Given the description of an element on the screen output the (x, y) to click on. 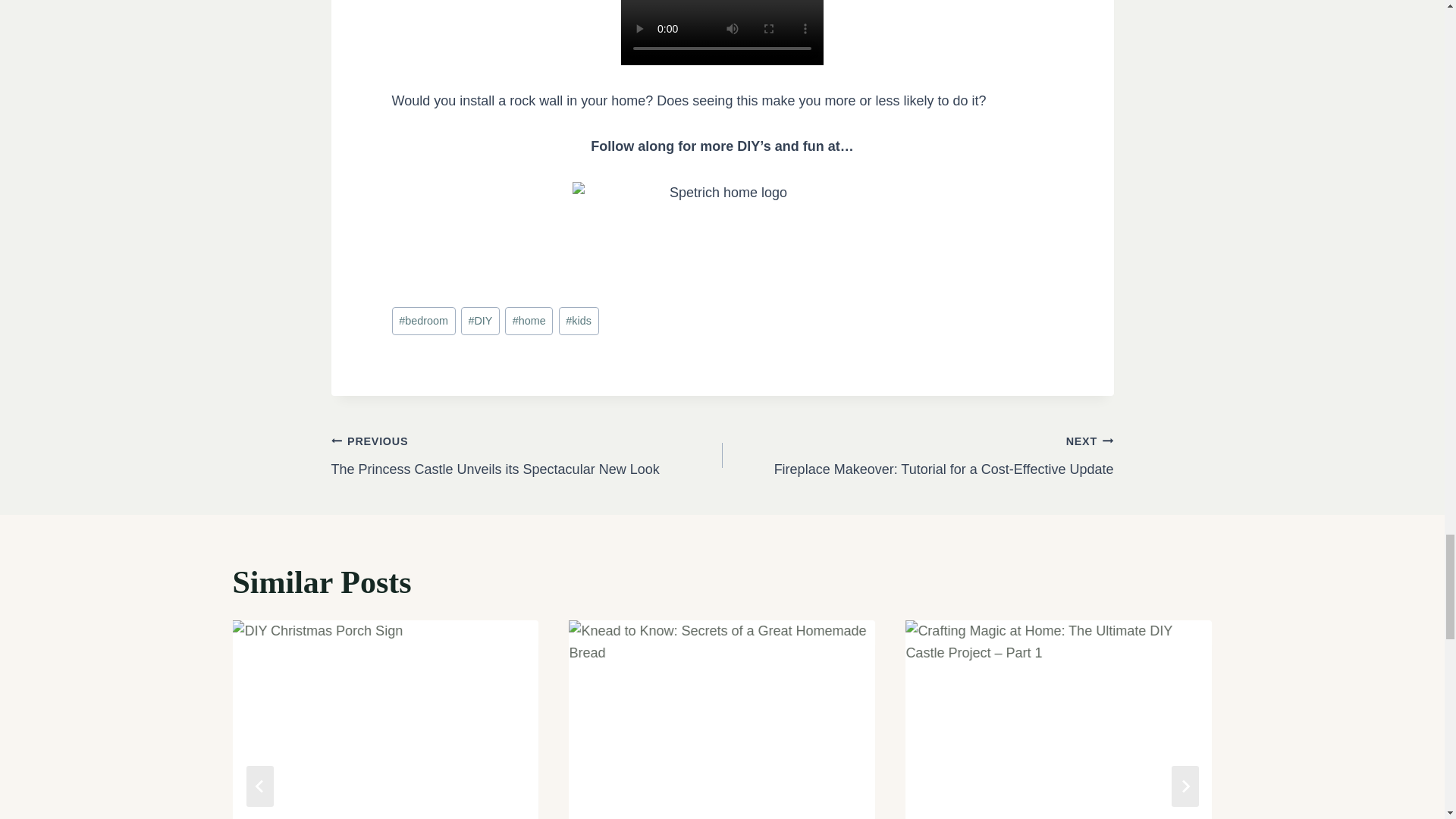
home (529, 320)
DIY (480, 320)
kids (578, 320)
bedroom (422, 320)
